Given the description of an element on the screen output the (x, y) to click on. 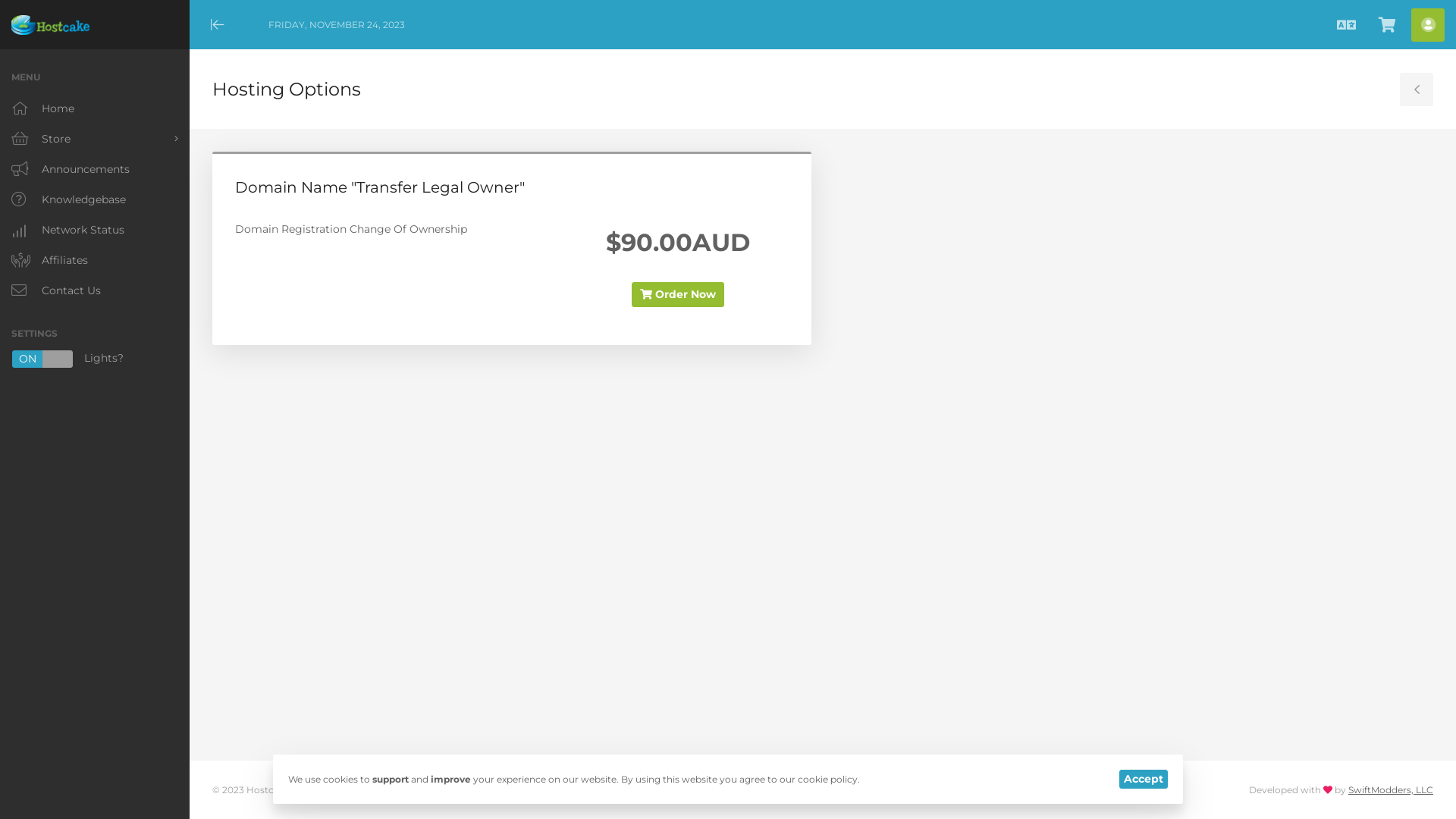
English Element type: text (1345, 23)
Order Now Element type: text (677, 294)
Affiliates Element type: text (94, 259)
SwiftModders, LLC Element type: text (1390, 789)
Knowledgebase Element type: text (94, 199)
Network Status Element type: text (94, 229)
Home Element type: text (94, 108)
Toggle Sidebar Element type: text (1416, 89)
Announcements Element type: text (94, 168)
Account Element type: text (1427, 23)
View Cart Element type: text (1386, 23)
Contact Us Element type: text (94, 290)
Minimize Menu Element type: text (217, 23)
Accept Element type: text (1143, 778)
Store Element type: text (94, 138)
